Given the description of an element on the screen output the (x, y) to click on. 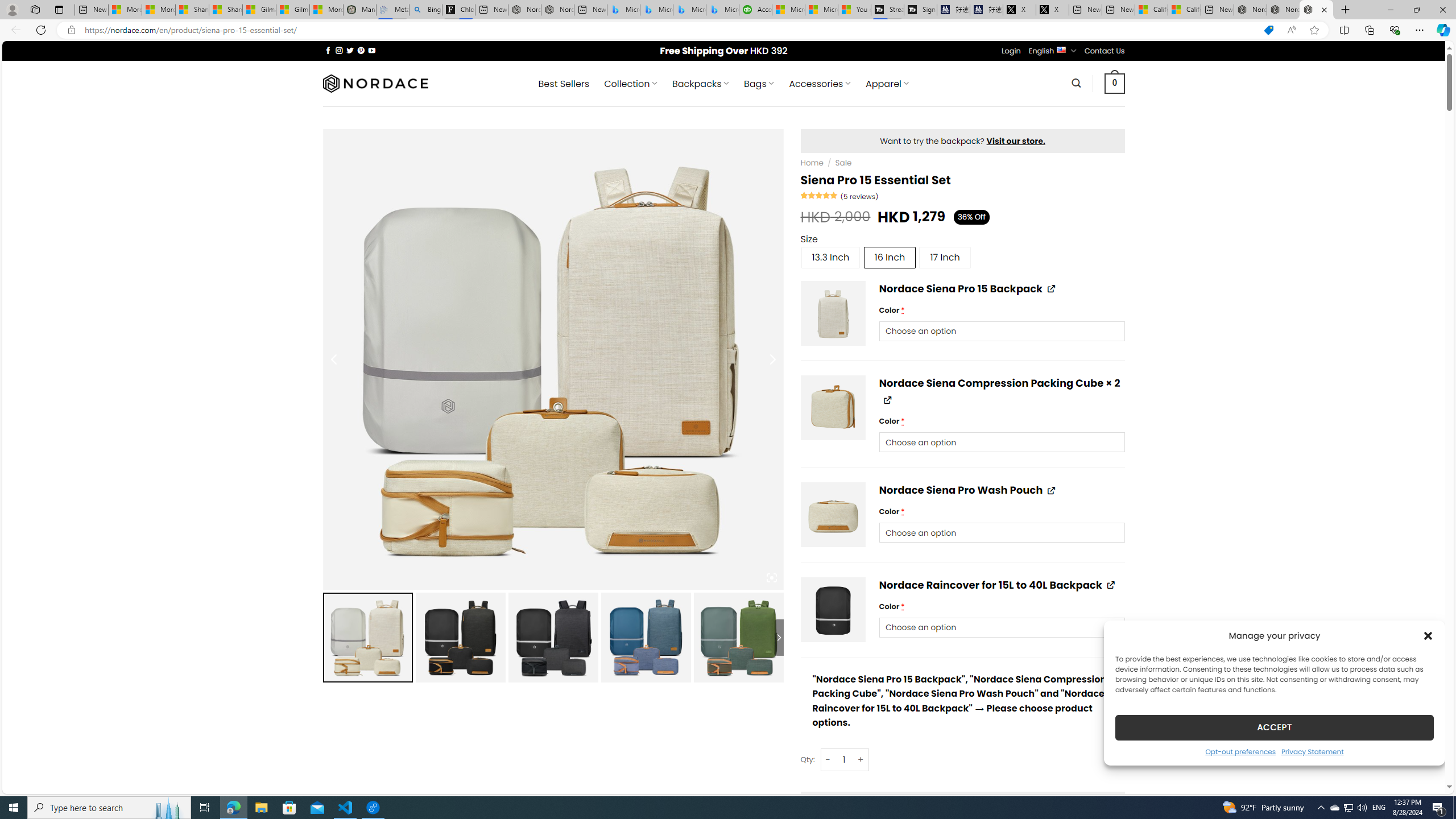
6G8A1607 (833, 407)
Follow on YouTube (371, 49)
Sale (842, 162)
6G8A1607 (833, 407)
Gilma and Hector both pose tropical trouble for Hawaii (292, 9)
Nordace - Siena Pro 15 Essential Set (1316, 9)
Login (1010, 50)
